Given the description of an element on the screen output the (x, y) to click on. 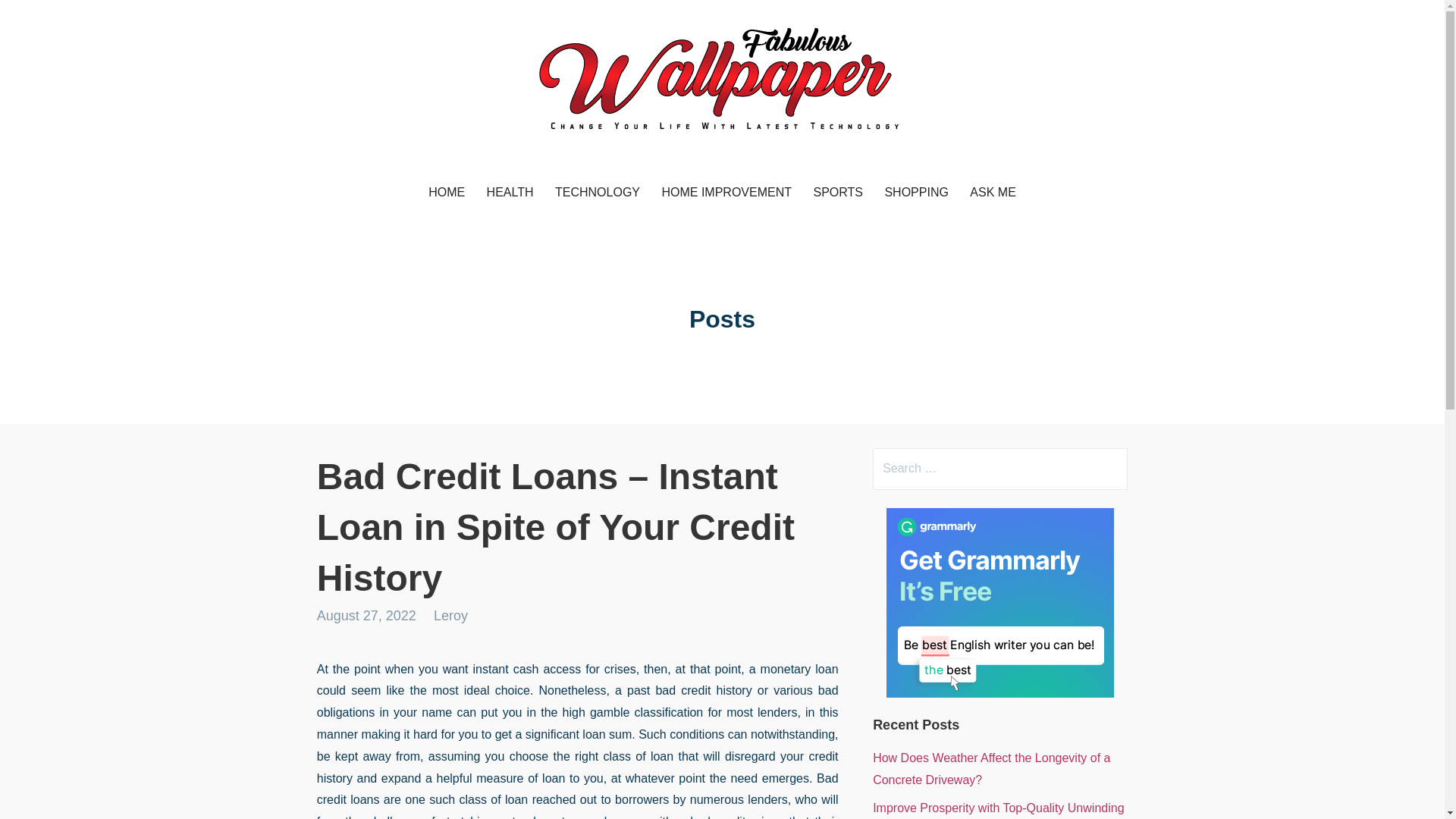
Leroy (450, 615)
Posts by Leroy (450, 615)
HOME (446, 192)
TECHNOLOGY (597, 192)
Fabulous Wallpaper (437, 159)
SHOPPING (915, 192)
ASK ME (992, 192)
HOME IMPROVEMENT (726, 192)
HEALTH (510, 192)
SPORTS (837, 192)
Search (42, 18)
